Given the description of an element on the screen output the (x, y) to click on. 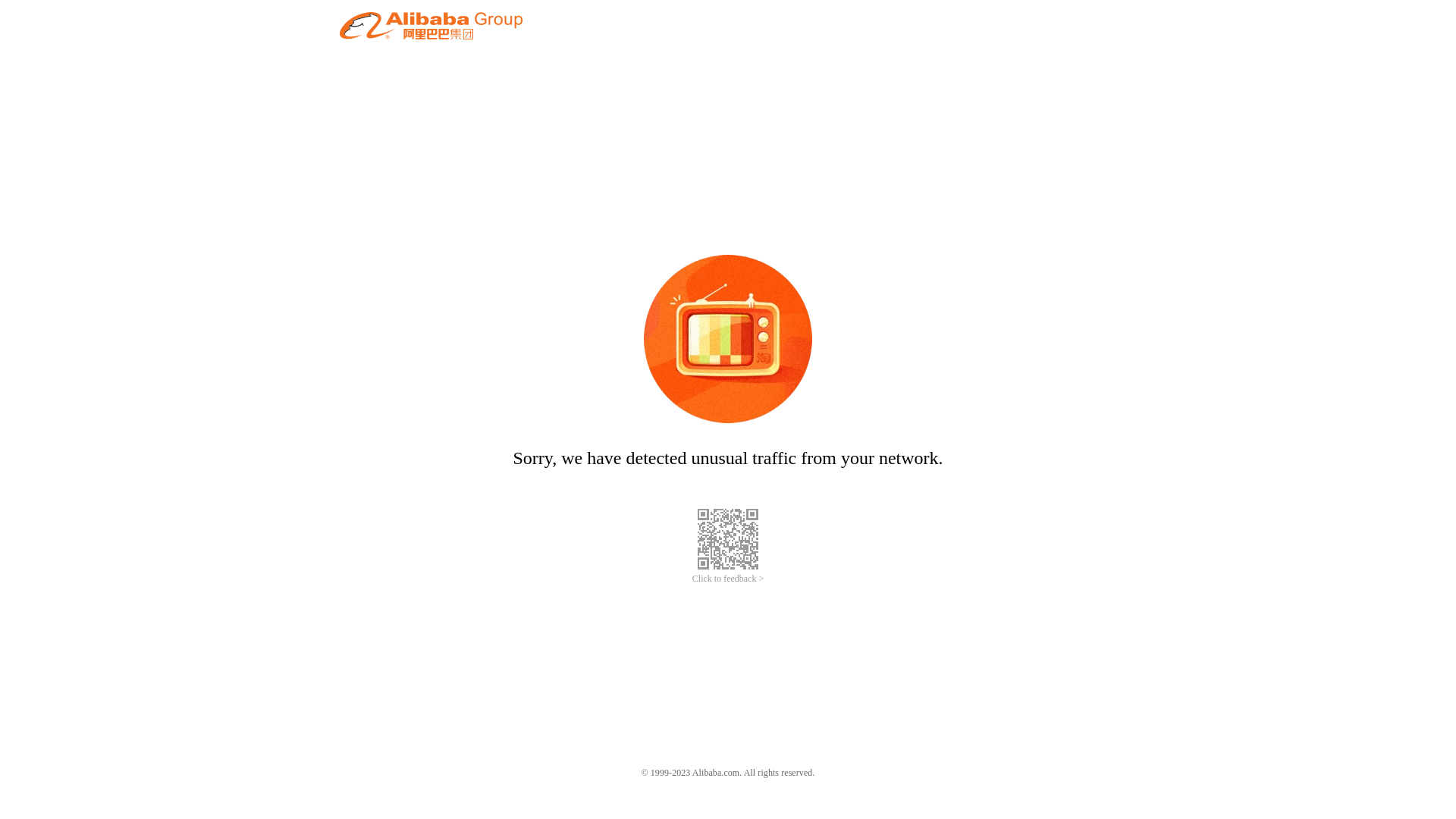
Click to feedback > Element type: text (727, 578)
